Given the description of an element on the screen output the (x, y) to click on. 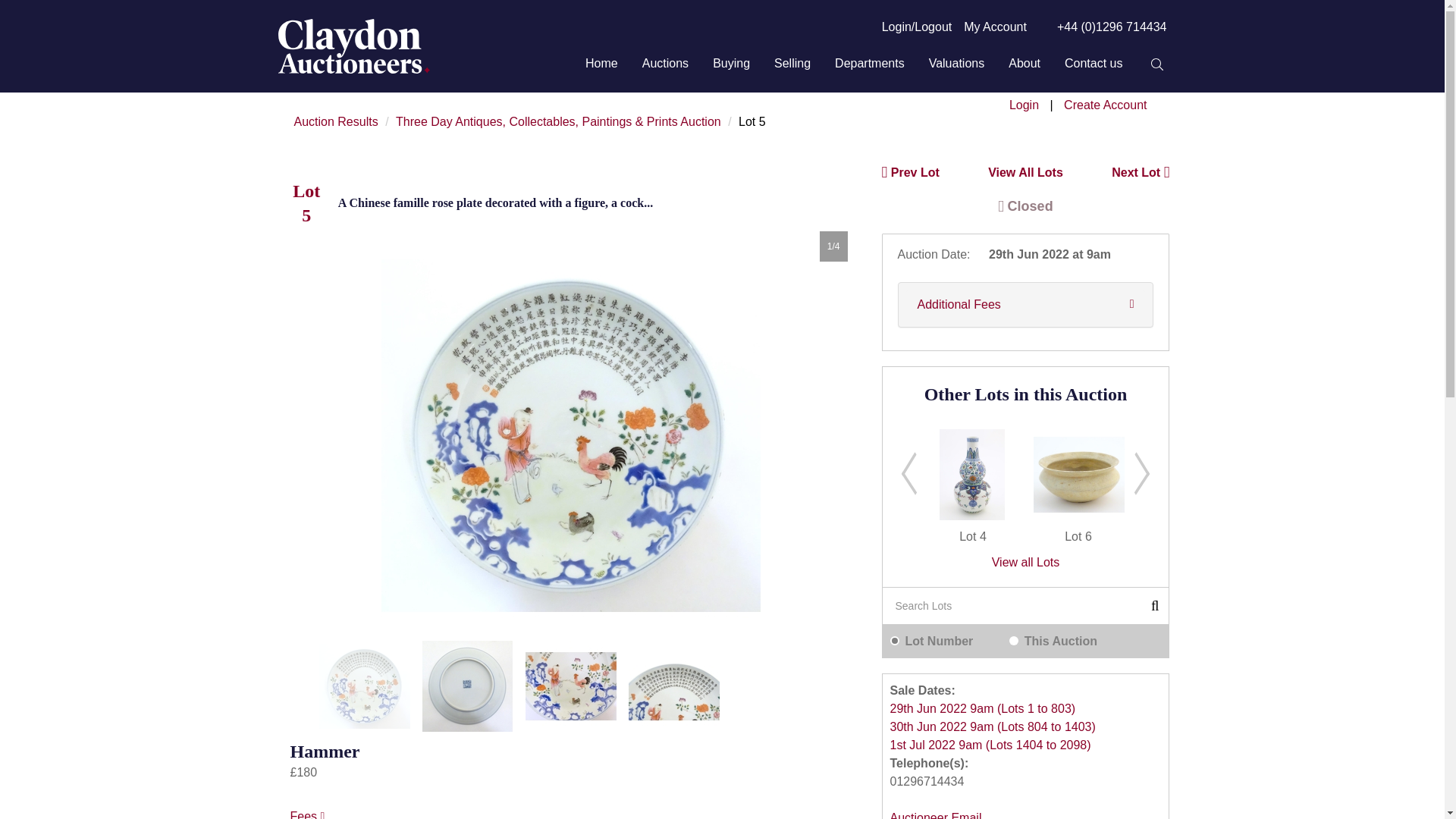
Fees (306, 814)
Departments (869, 63)
Selling (792, 63)
Contact us (1093, 63)
Auctions (665, 63)
Search site (1156, 64)
My Account (994, 26)
Valuations (956, 63)
About (1025, 63)
Create Account (1105, 104)
Login (1024, 104)
Buying (731, 63)
Auction Results (336, 121)
Home (601, 63)
